Given the description of an element on the screen output the (x, y) to click on. 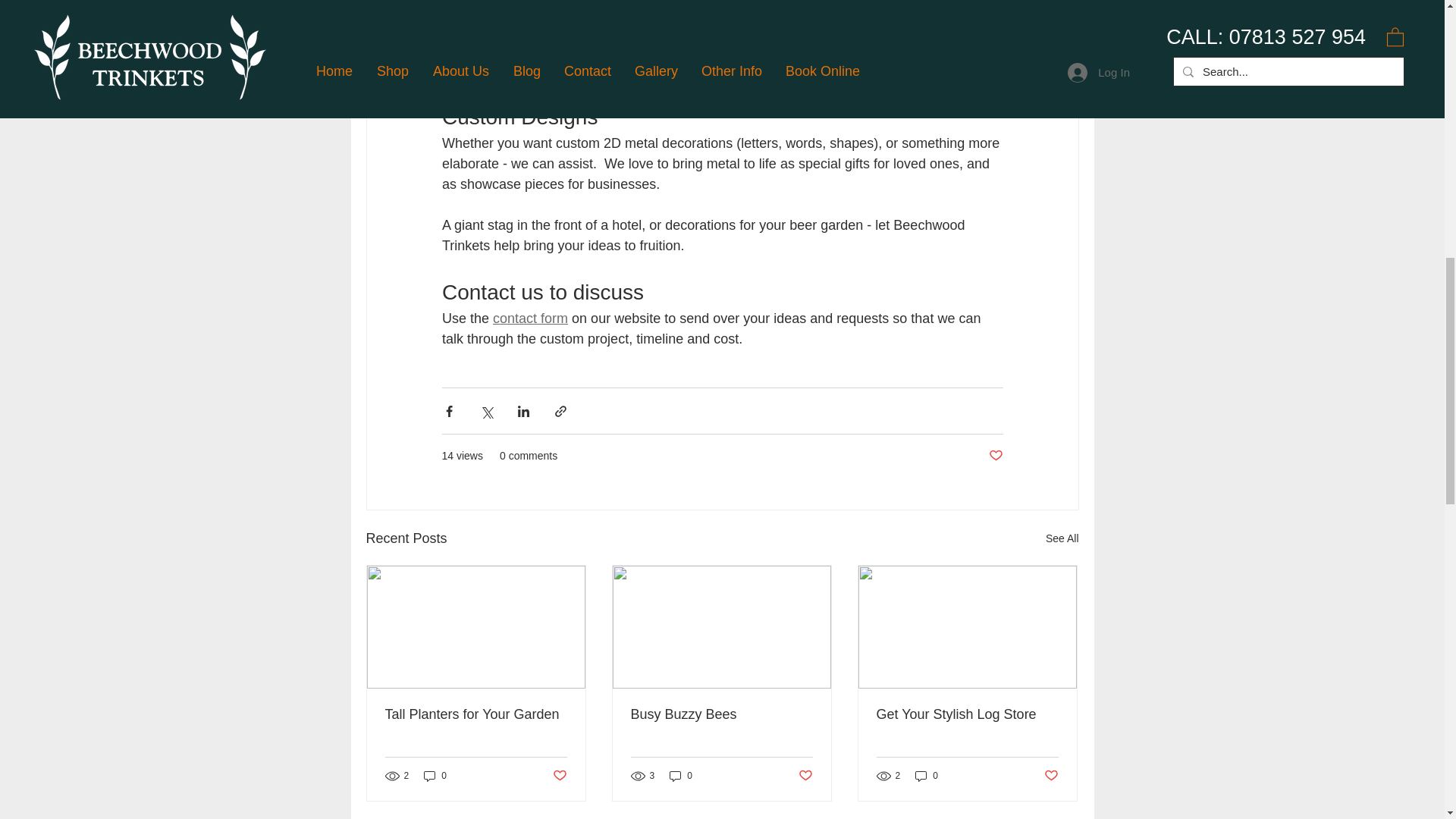
Tall Planters for Your Garden (476, 714)
See All (1061, 538)
Post not marked as liked (995, 455)
0 (435, 775)
contact form (530, 318)
